Given the description of an element on the screen output the (x, y) to click on. 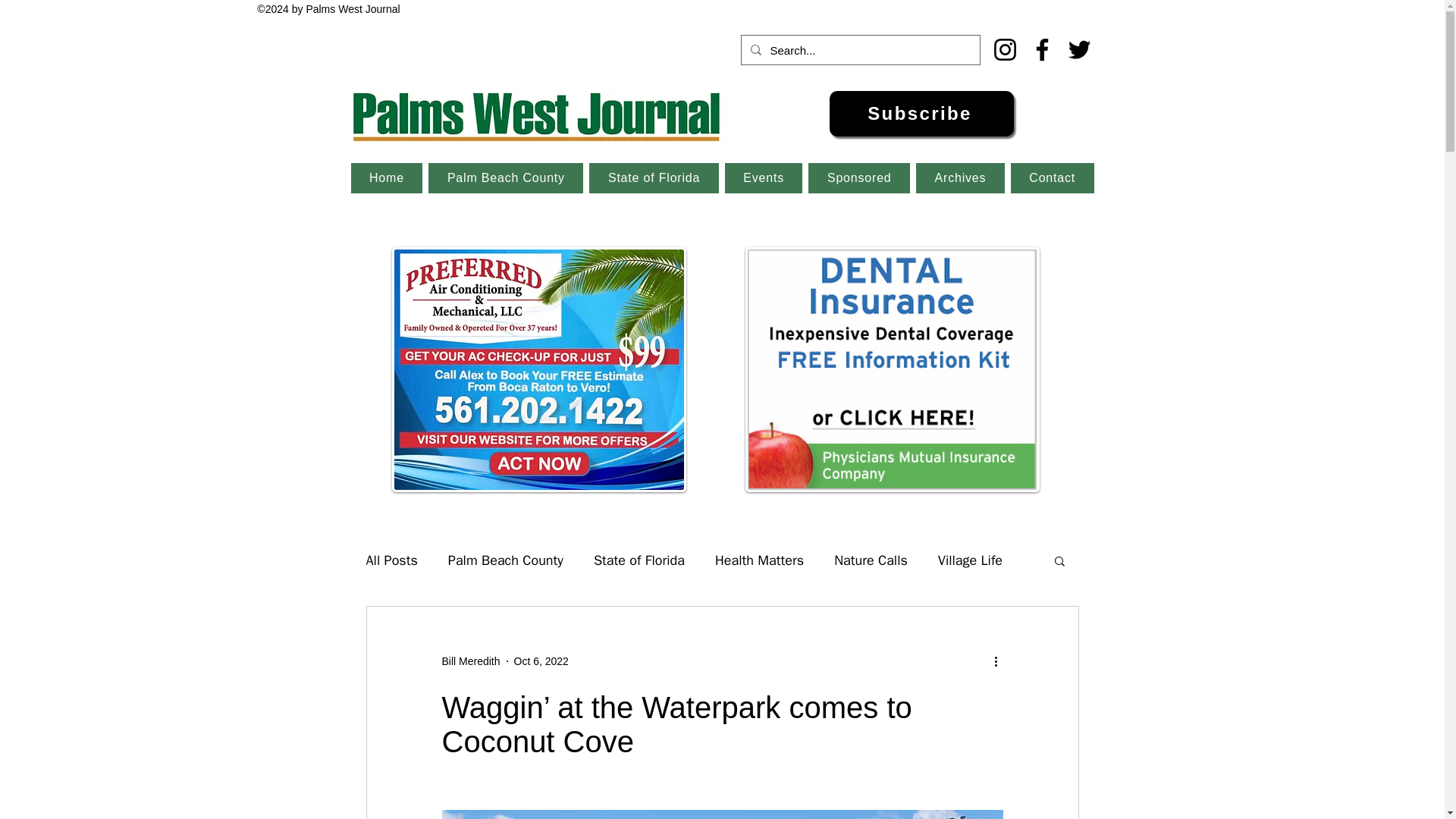
Bill Meredith (470, 661)
State of Florida (653, 177)
CLICK FOR MORE INFORATION (538, 369)
Oct 6, 2022 (541, 661)
State of Florida (639, 560)
Events (764, 177)
Health Matters (758, 560)
Sponsored (859, 177)
Contact (1052, 177)
Village Life (970, 560)
Subscribe (921, 113)
PWJ.jpg (538, 113)
Palm Beach County (505, 560)
Bill Meredith (470, 661)
All Posts (390, 560)
